Given the description of an element on the screen output the (x, y) to click on. 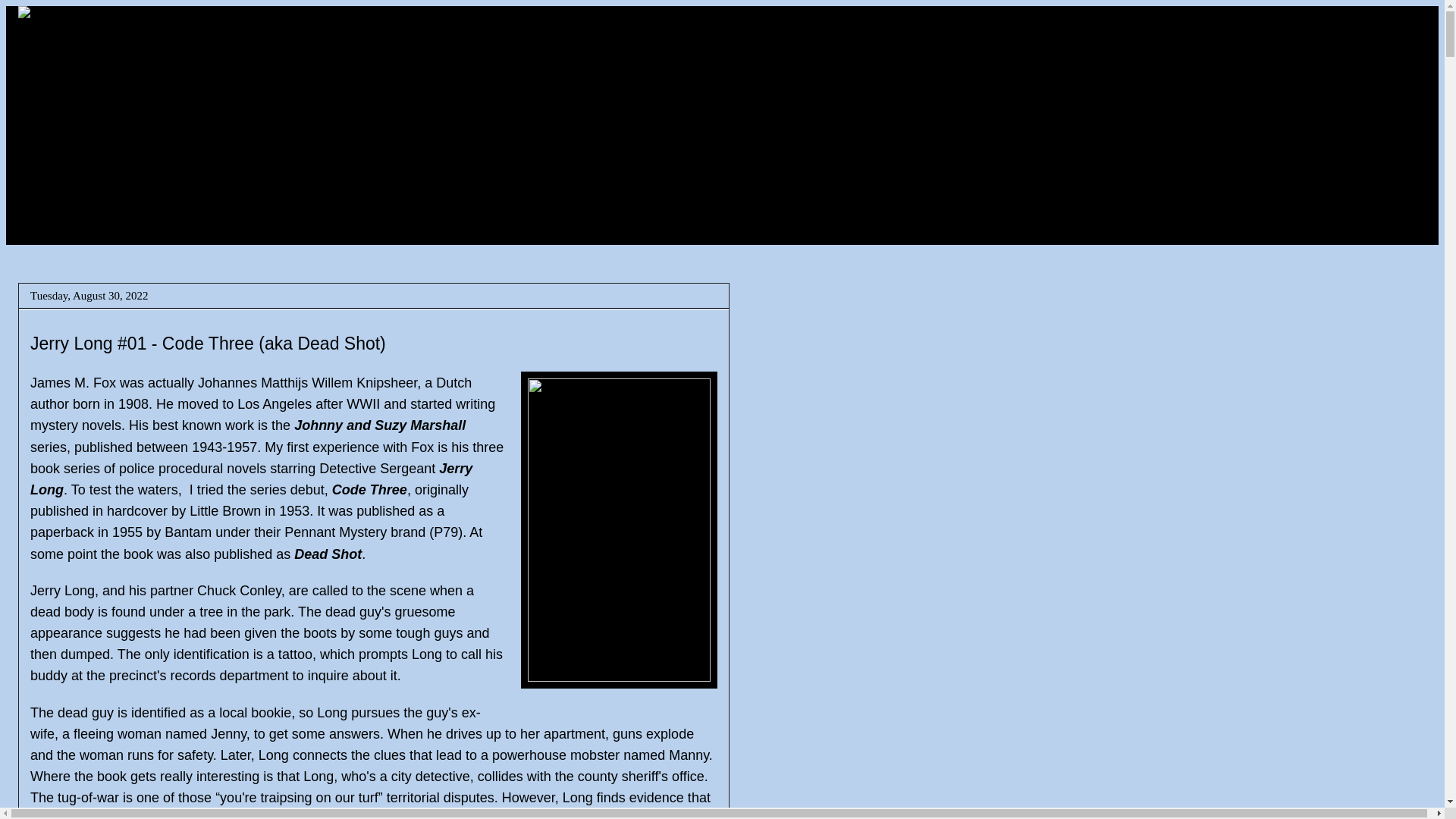
WWII (363, 403)
